Given the description of an element on the screen output the (x, y) to click on. 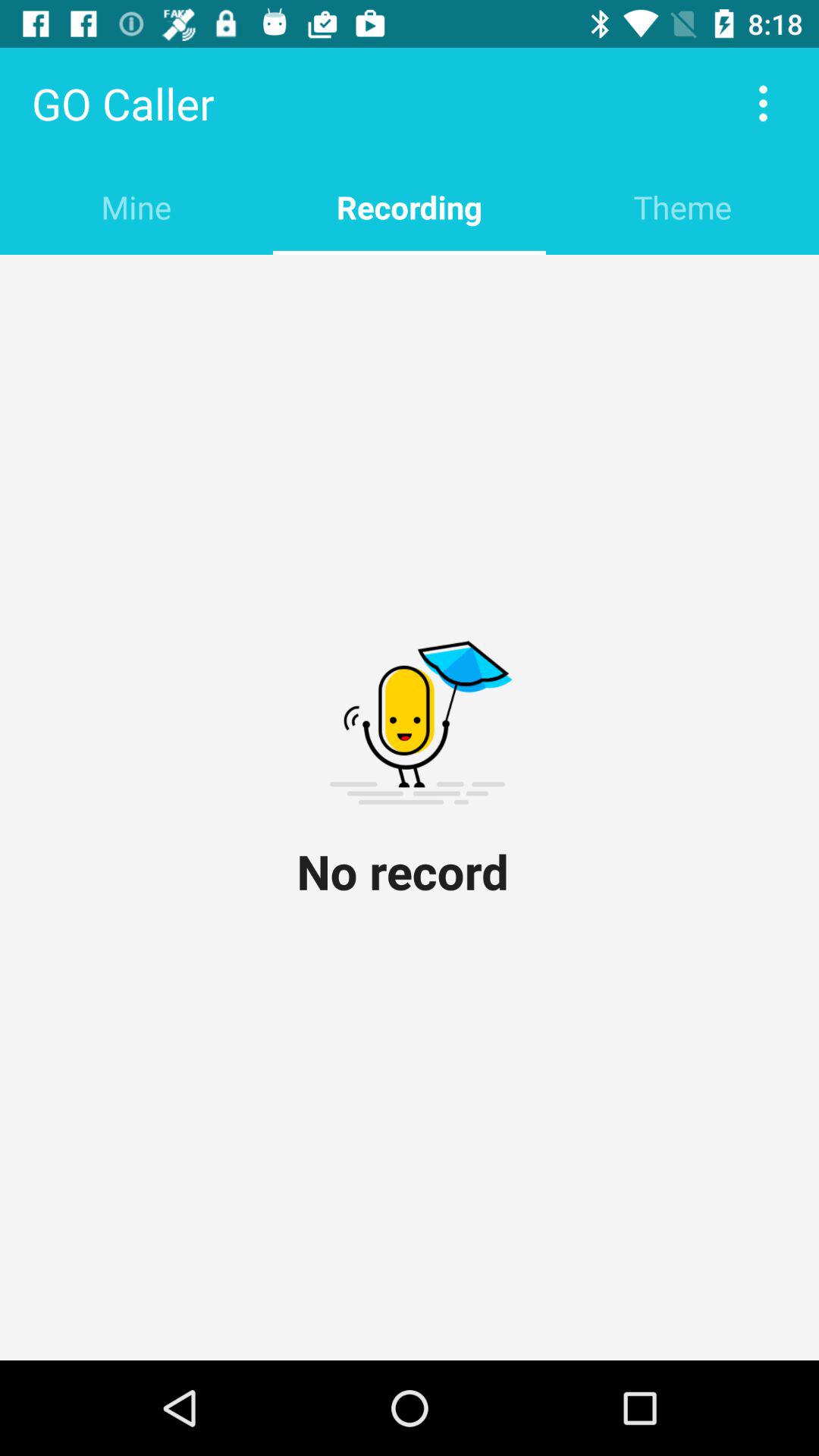
launch recording (409, 206)
